Given the description of an element on the screen output the (x, y) to click on. 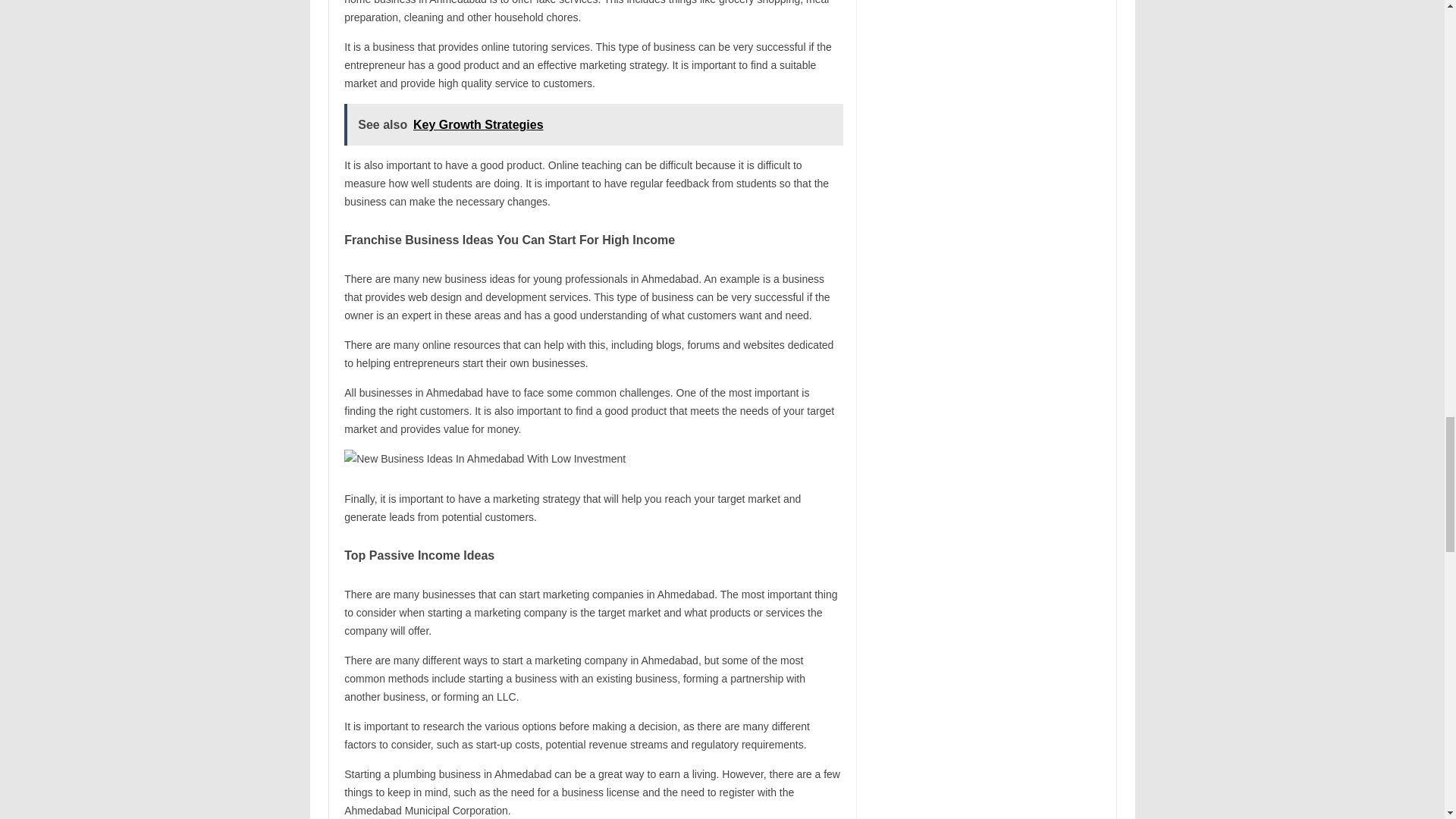
See also  Key Growth Strategies (593, 124)
